Given the description of an element on the screen output the (x, y) to click on. 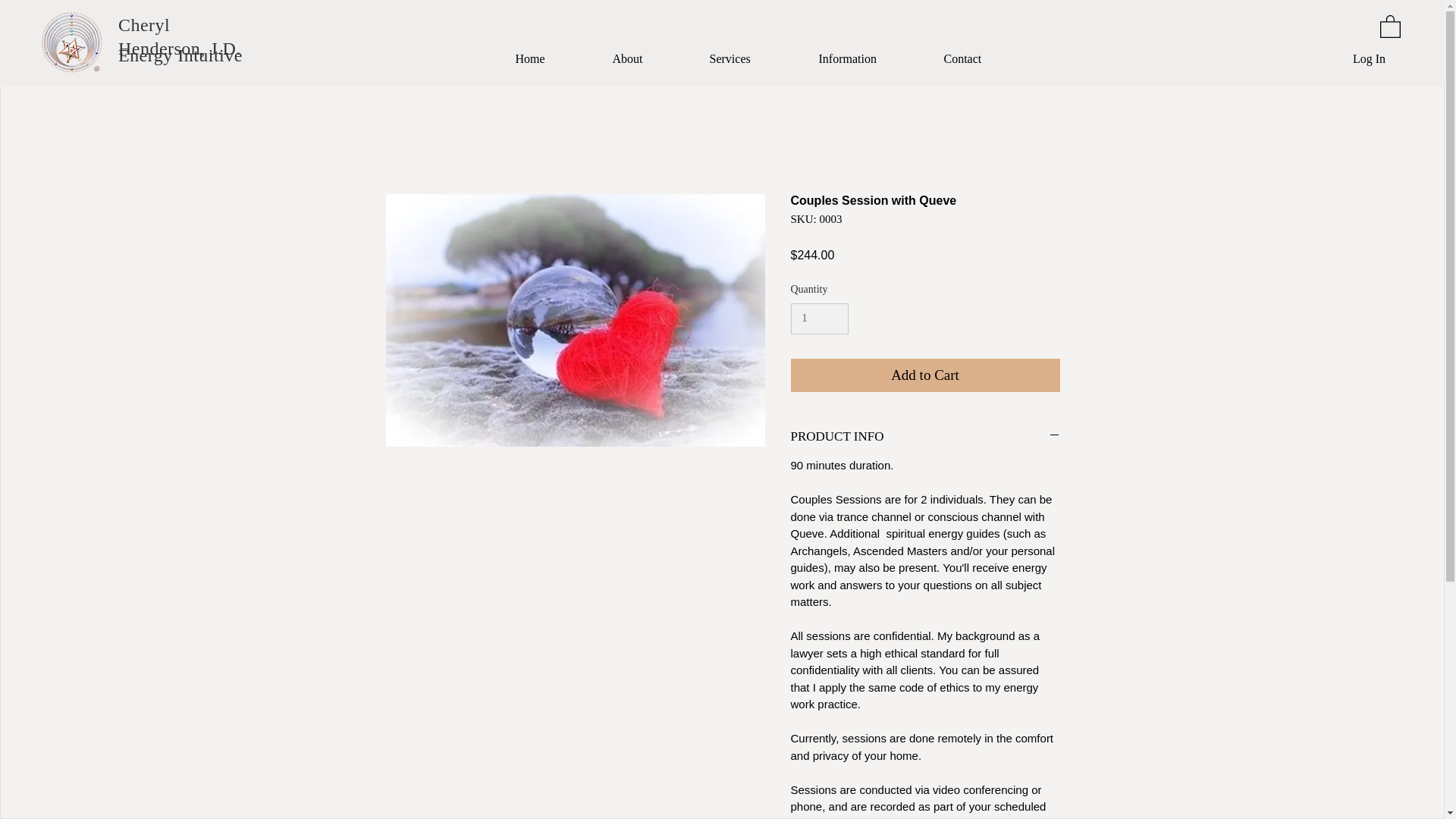
1 (818, 318)
Contact (986, 59)
PRODUCT INFO (924, 436)
Log In (1369, 58)
Energy Intuitive (180, 55)
Add to Cart (924, 375)
About (648, 59)
Services (751, 59)
Cheryl Henderson (158, 36)
Information (868, 59)
Home (551, 59)
